Given the description of an element on the screen output the (x, y) to click on. 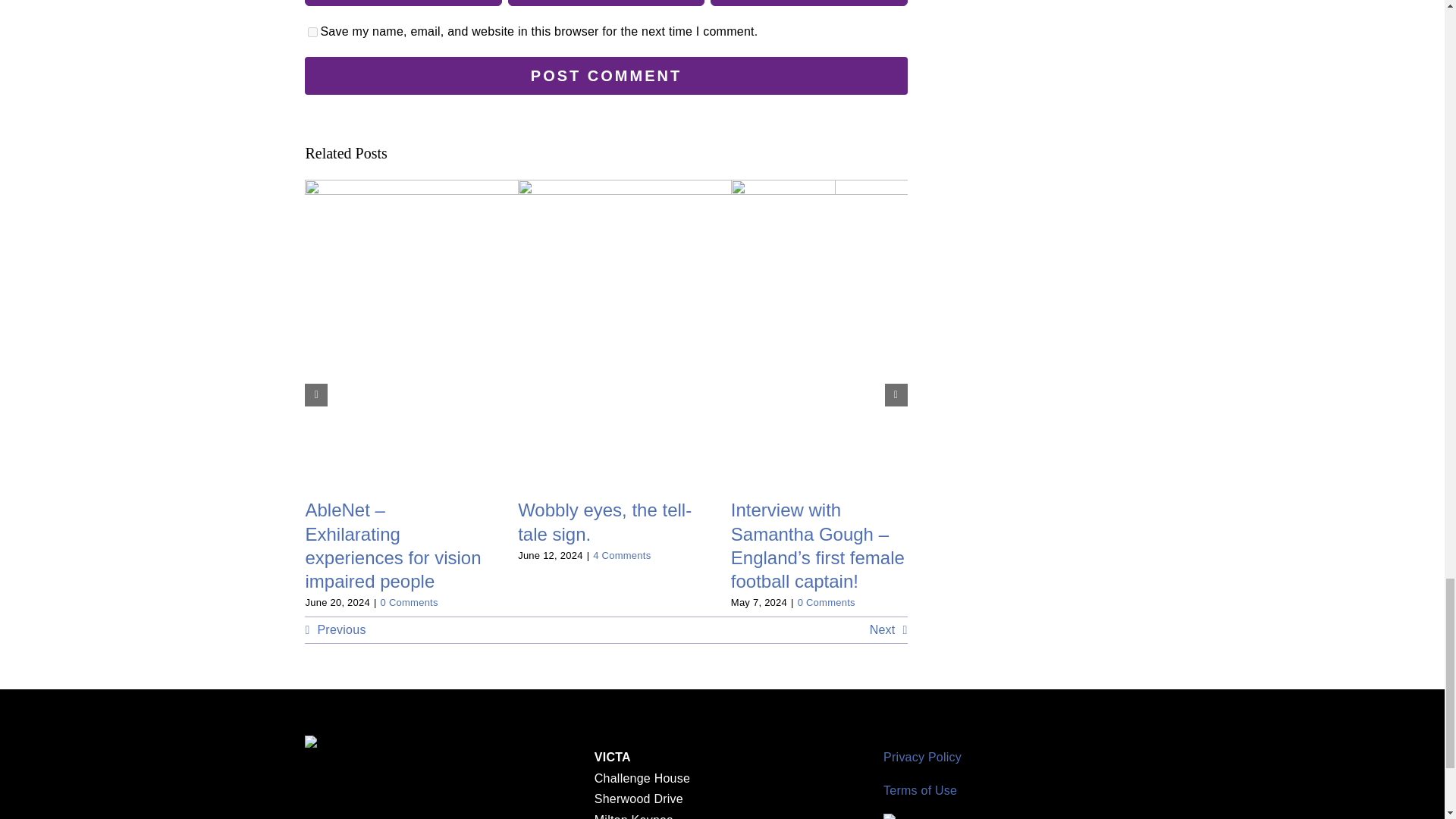
Post Comment (605, 75)
Wobbly eyes, the tell-tale sign. (604, 521)
yes (312, 31)
